Given the description of an element on the screen output the (x, y) to click on. 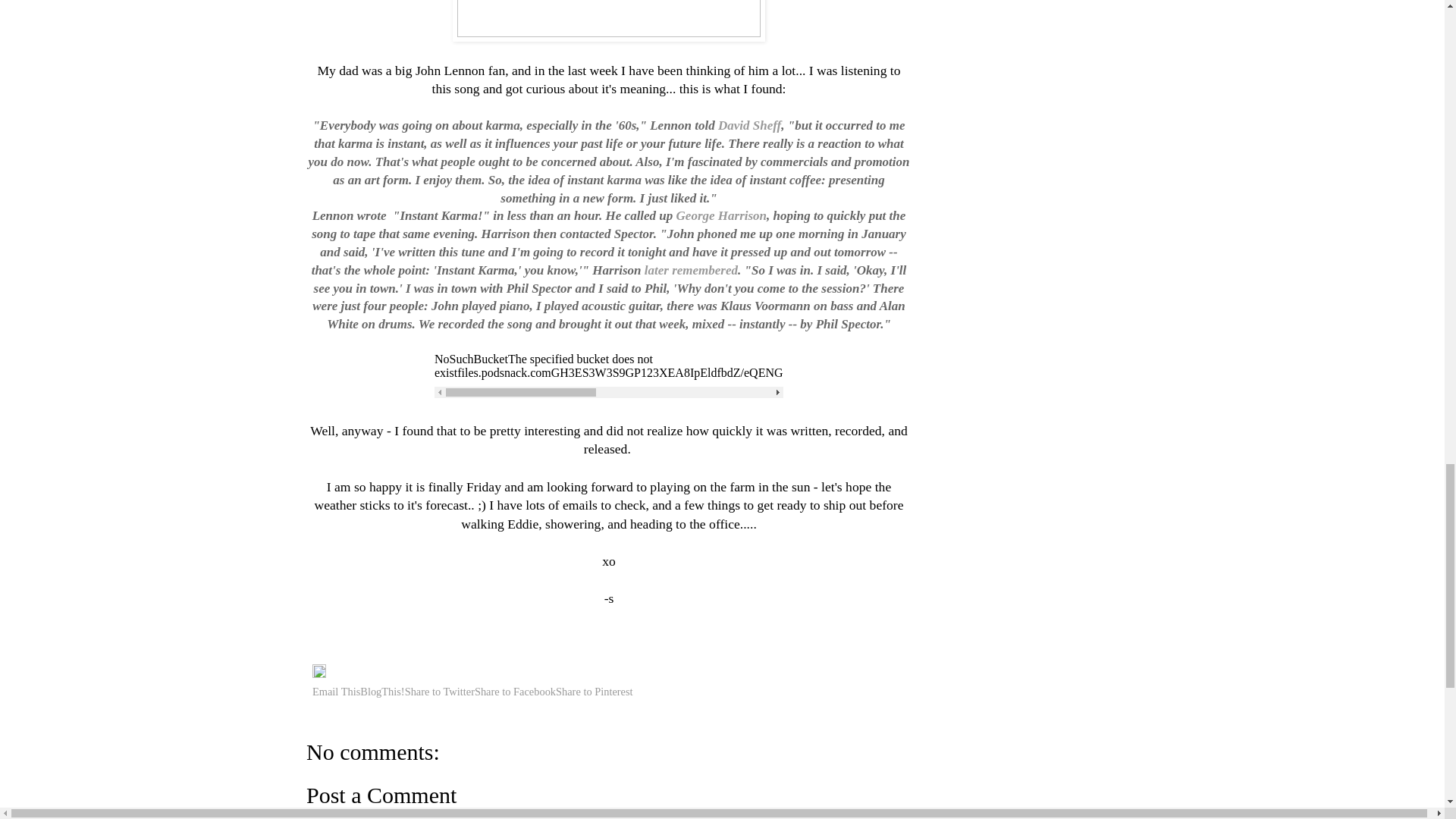
BlogThis! (381, 691)
David Sheff (748, 124)
George Harrison (722, 215)
Share to Twitter (439, 691)
Share to Pinterest (594, 691)
Share to Pinterest (594, 691)
Share to Facebook (515, 691)
Share to Facebook (515, 691)
Email This (336, 691)
later remembered (691, 269)
